Given the description of an element on the screen output the (x, y) to click on. 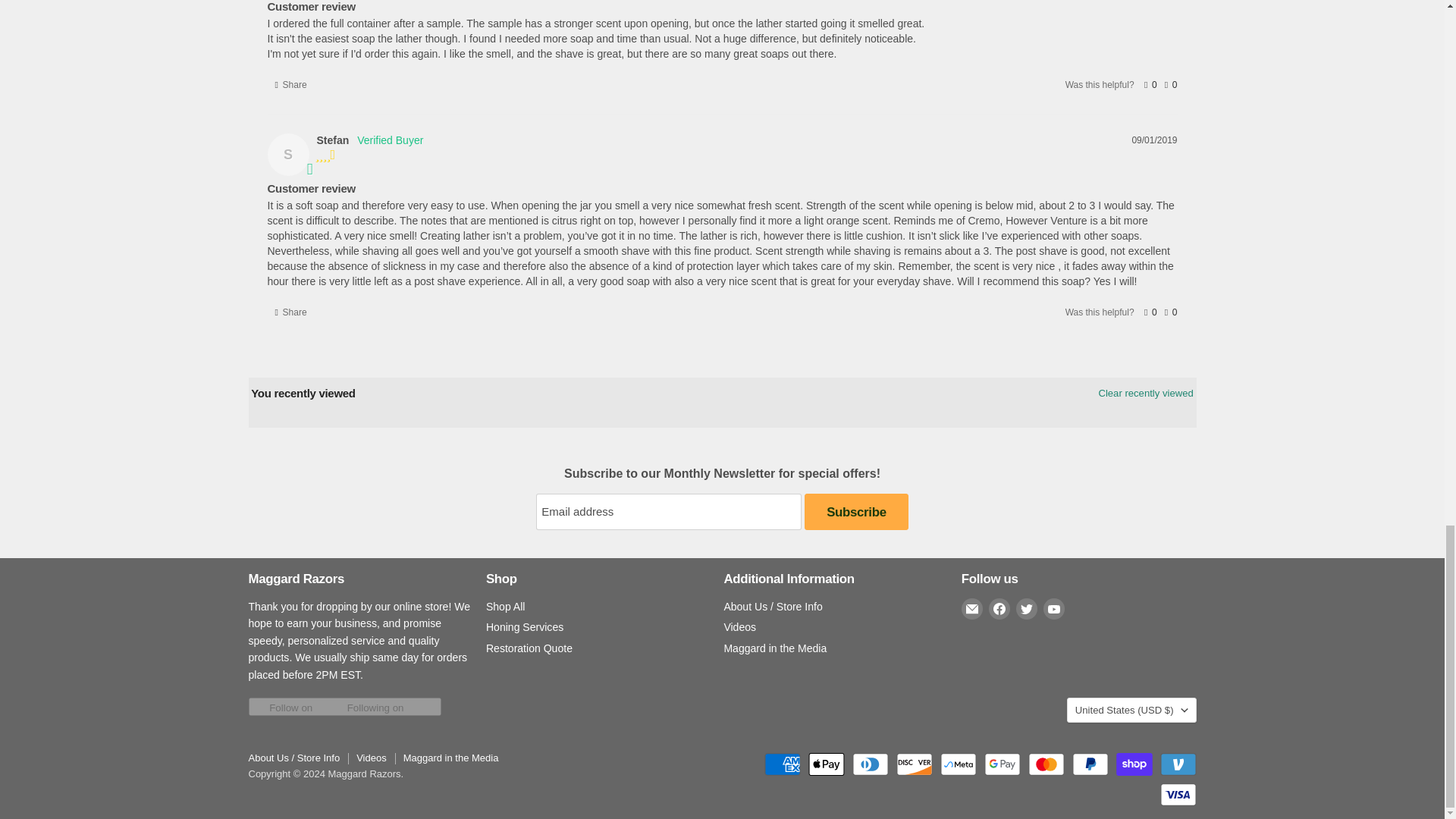
Meta Pay (958, 763)
Twitter (1026, 608)
Email (971, 608)
YouTube (1053, 608)
Diners Club (869, 763)
Discover (914, 763)
Facebook (999, 608)
American Express (782, 763)
Subscribe (856, 511)
Apple Pay (826, 763)
